Given the description of an element on the screen output the (x, y) to click on. 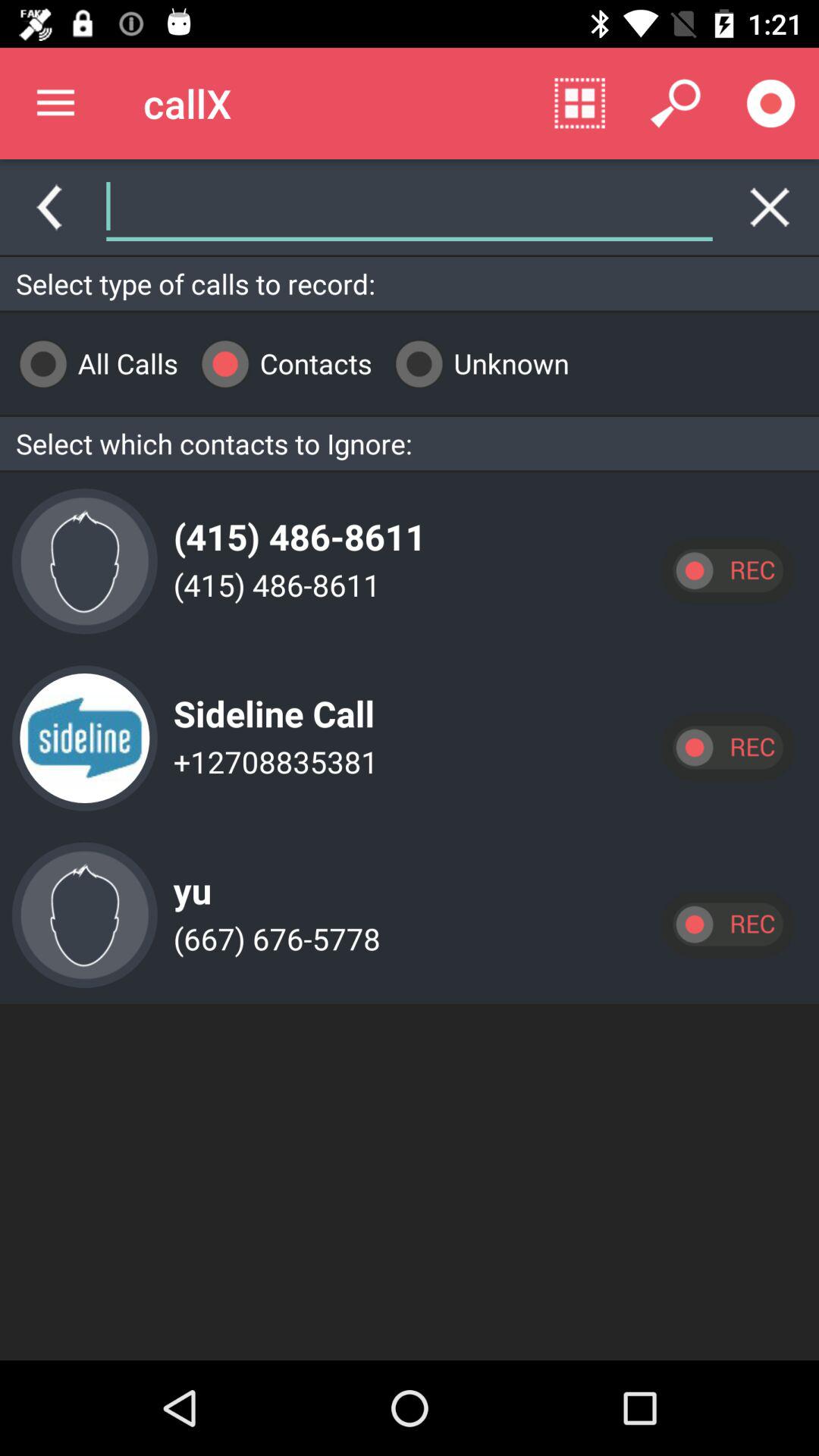
choose item next to the callx icon (55, 103)
